Given the description of an element on the screen output the (x, y) to click on. 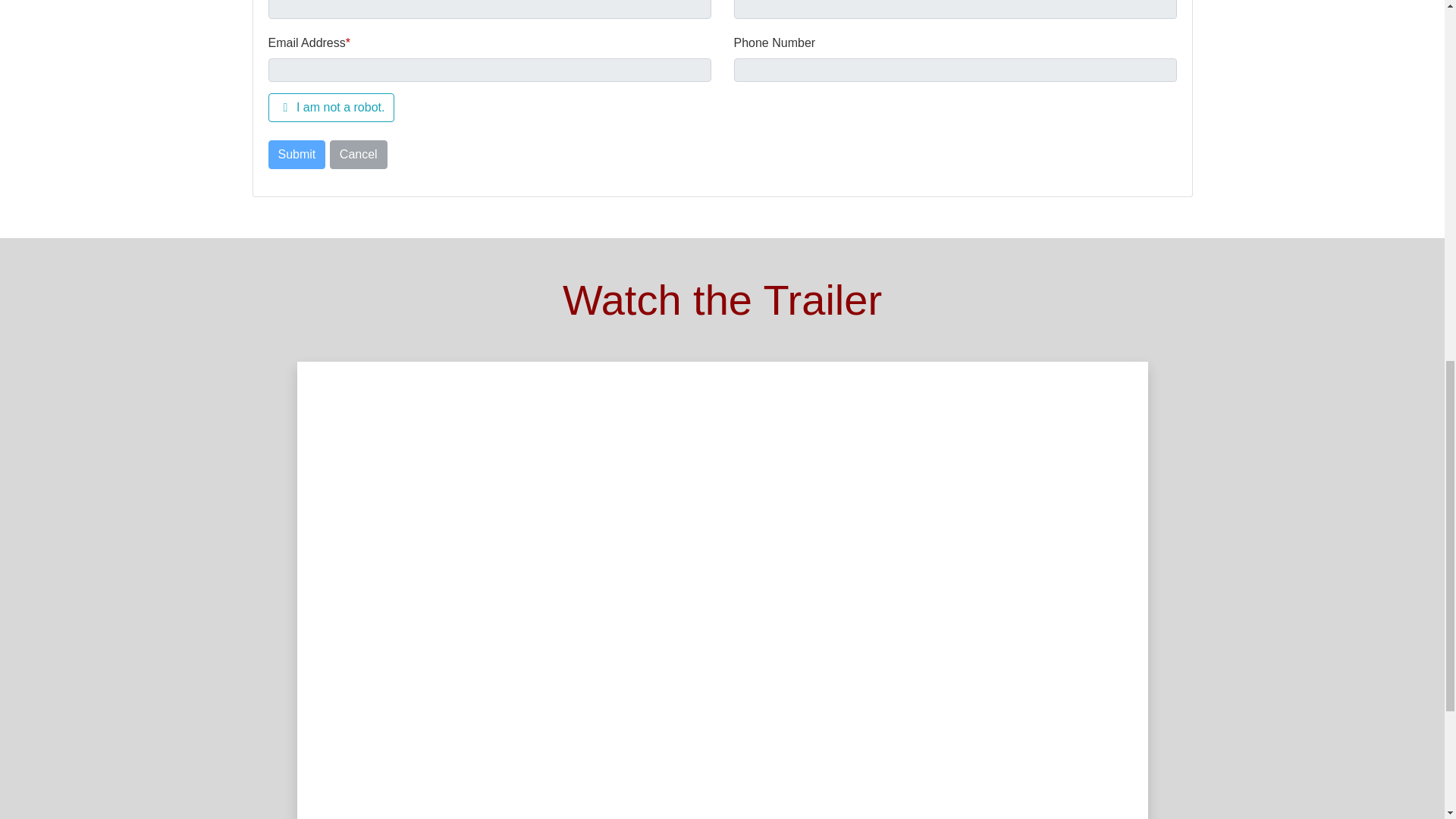
Submit (296, 154)
Cancel (358, 154)
